Given the description of an element on the screen output the (x, y) to click on. 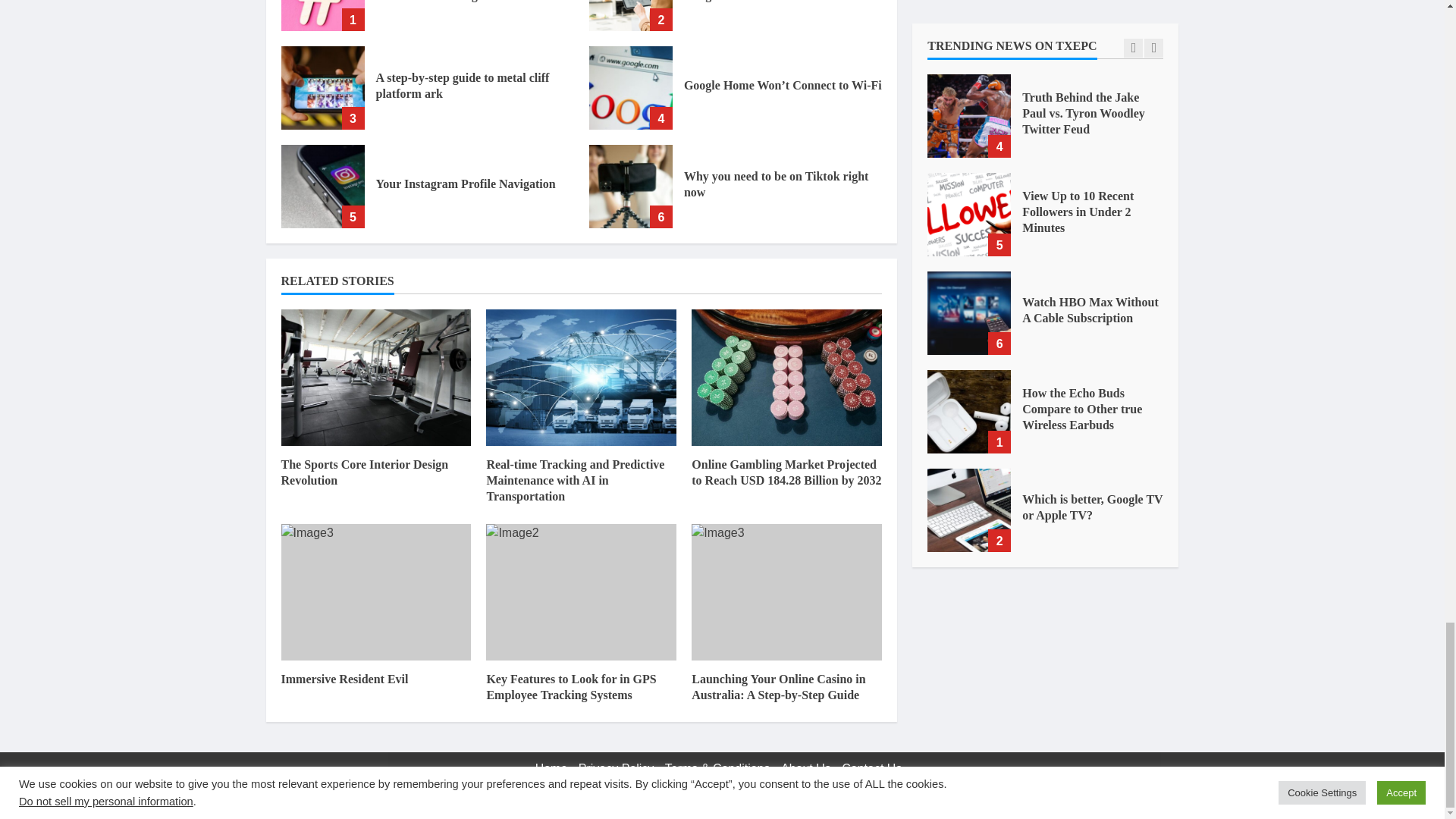
Your Instagram Profile Navigation (465, 183)
A step-by-step guide to metal cliff platform ark (322, 87)
Use hashtags to connect with new audiences on Instagram (322, 15)
A step-by-step guide to metal cliff platform ark (462, 85)
Why you need to be on Tiktok right now (630, 186)
Your Instagram Profile Navigation (322, 186)
The Sports Core Interior Design Revolution (375, 377)
Connect your smart home plug to Google Home (630, 15)
The Sports Core Interior Design Revolution (364, 471)
Why you need to be on Tiktok right now (775, 184)
